Given the description of an element on the screen output the (x, y) to click on. 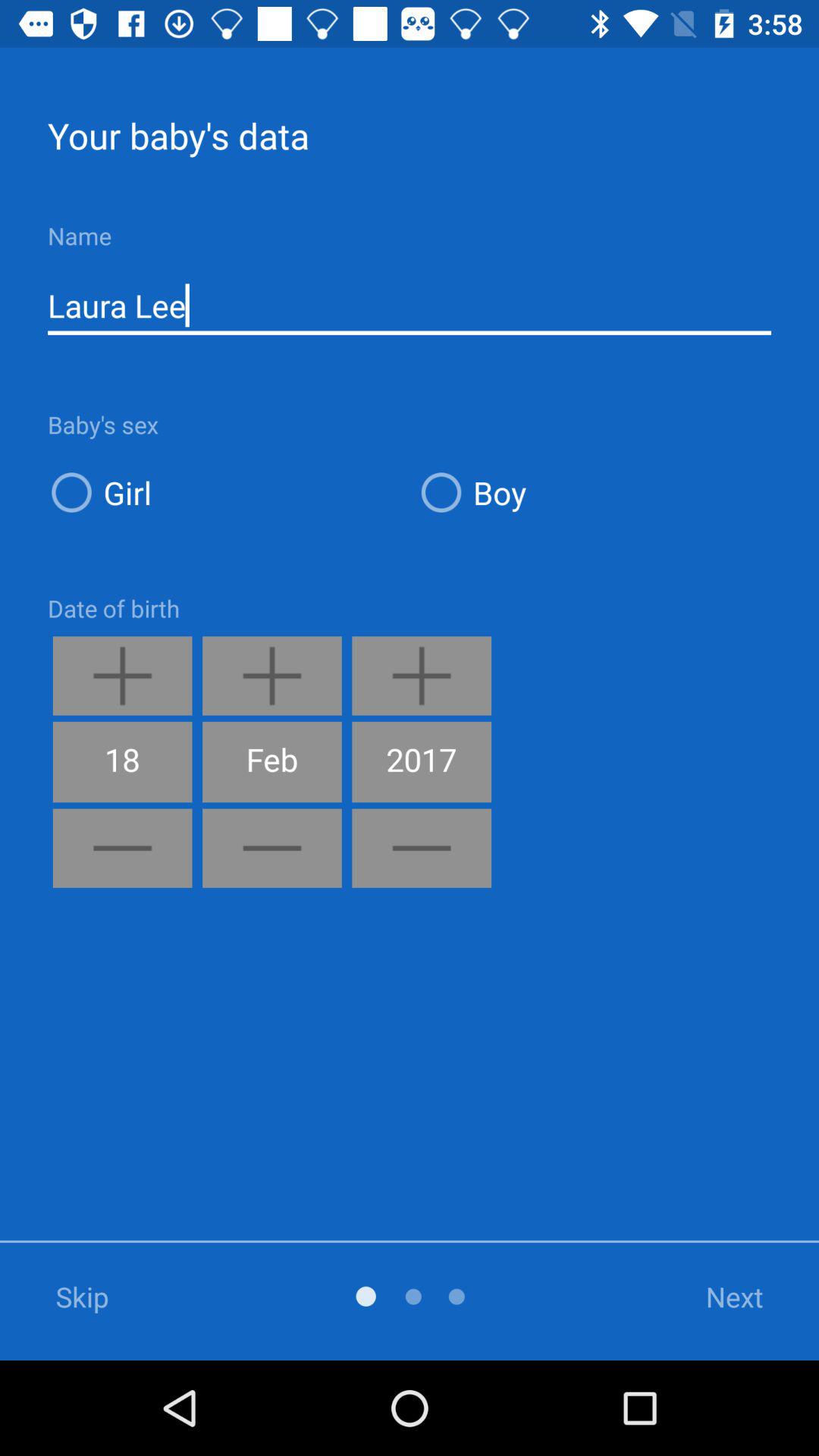
launch the icon below laura lee icon (594, 492)
